Given the description of an element on the screen output the (x, y) to click on. 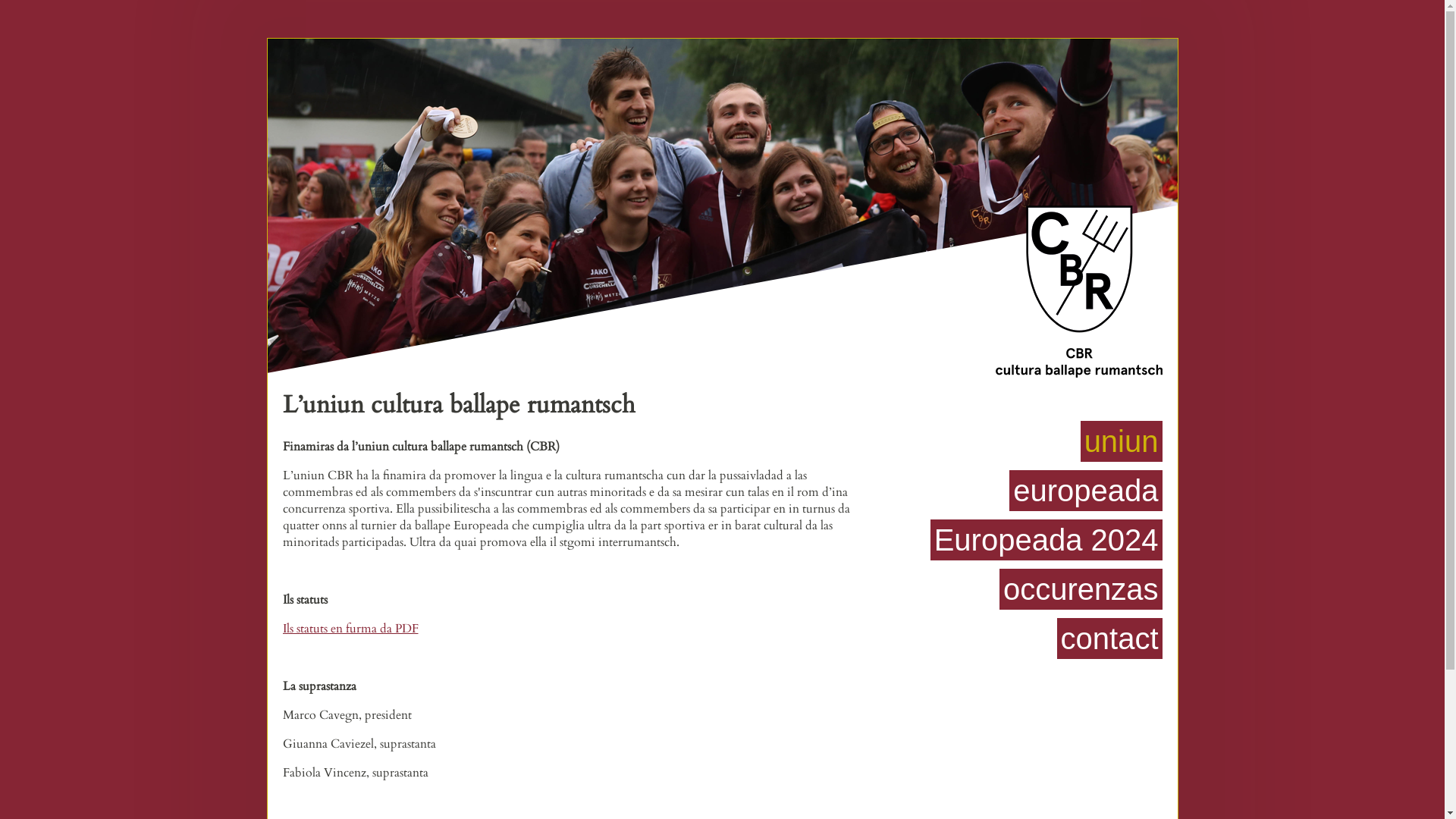
occurenzas Element type: text (1080, 588)
contact Element type: text (1109, 638)
  Element type: text (873, 670)
Europeada 2024 Element type: text (1046, 539)
Skip navigation Element type: text (873, 411)
Ils statuts en furma da PDF Element type: text (349, 628)
europeada Element type: text (1085, 490)
